Given the description of an element on the screen output the (x, y) to click on. 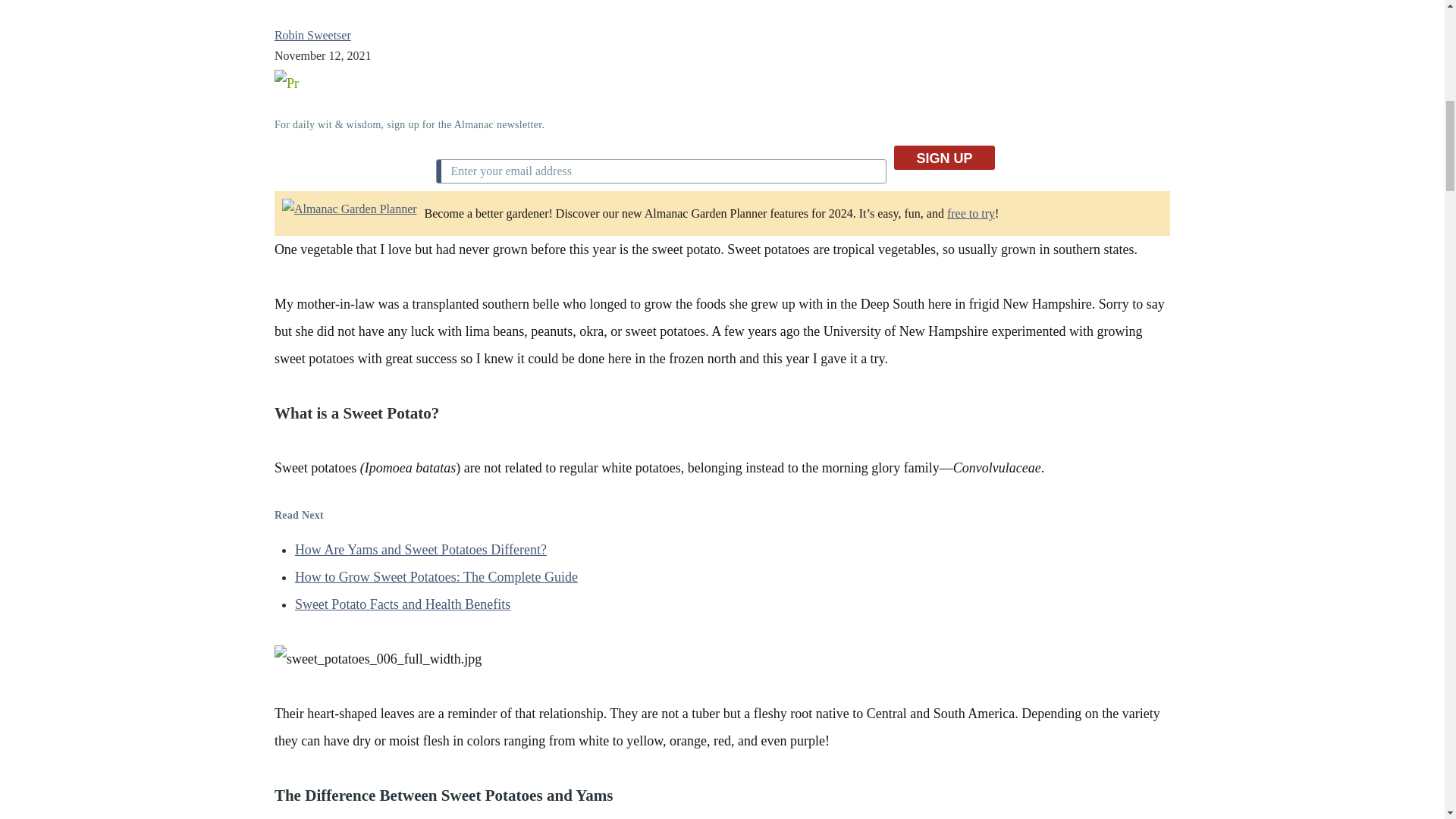
Printer Friendly and PDF (722, 81)
Sign Up (943, 157)
